Given the description of an element on the screen output the (x, y) to click on. 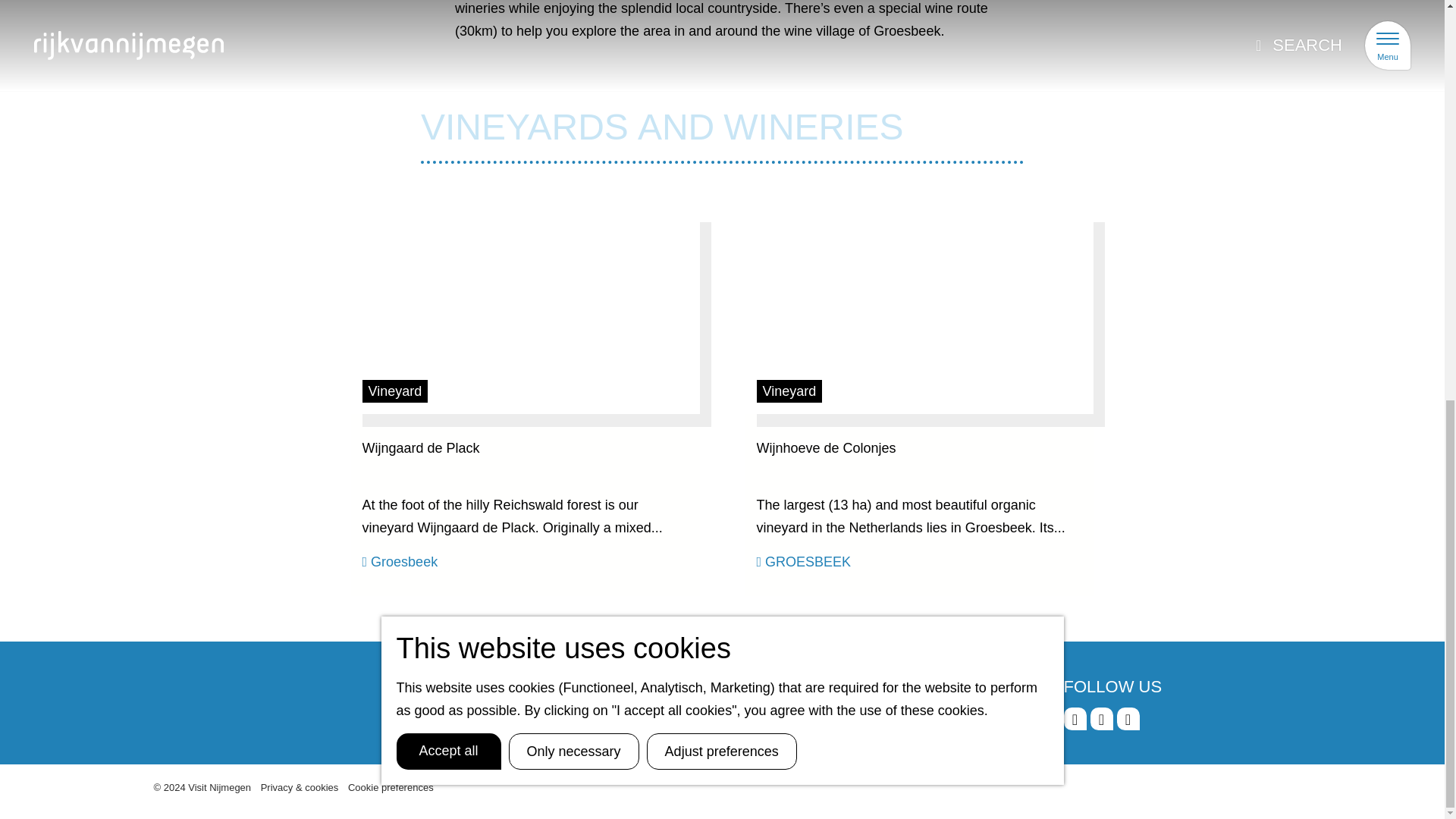
Cookie preferences (390, 787)
PINTEREST VISIT NIJMEGEN (1127, 718)
INSTAGRAM VISIT NIJMEGEN (1101, 718)
FACEBOOK VISIT NIJMEGEN (1074, 718)
